Given the description of an element on the screen output the (x, y) to click on. 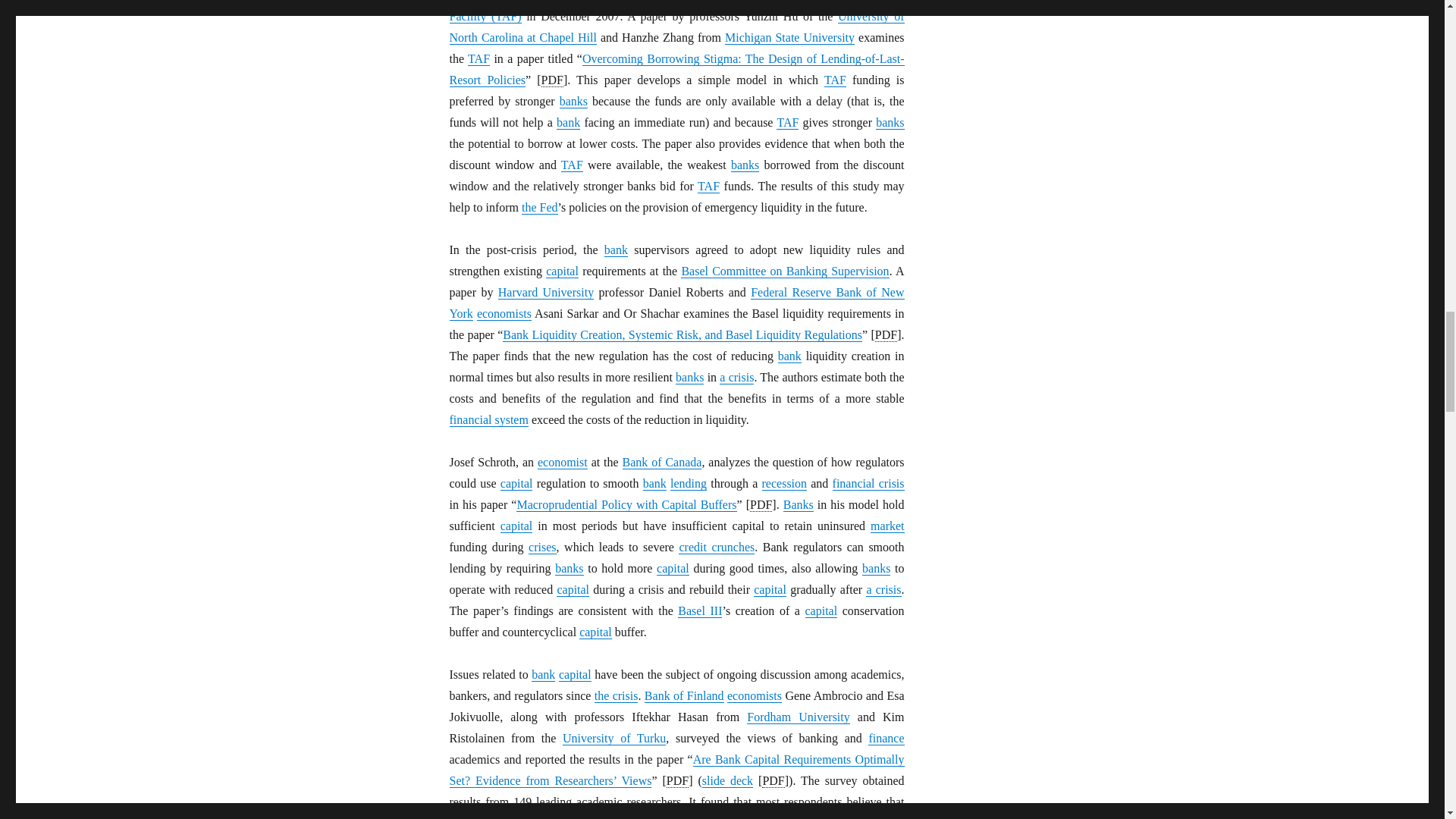
Term Auction Facility (834, 79)
Term Auction Facility (708, 186)
Term Auction Facility (786, 122)
Portable Document Format (772, 780)
Term Auction Facility (571, 164)
Term Auction Facility (478, 59)
Portable Document Format (552, 79)
Portable Document Format (885, 335)
Portable Document Format (677, 780)
Portable Document Format (760, 504)
